Given the description of an element on the screen output the (x, y) to click on. 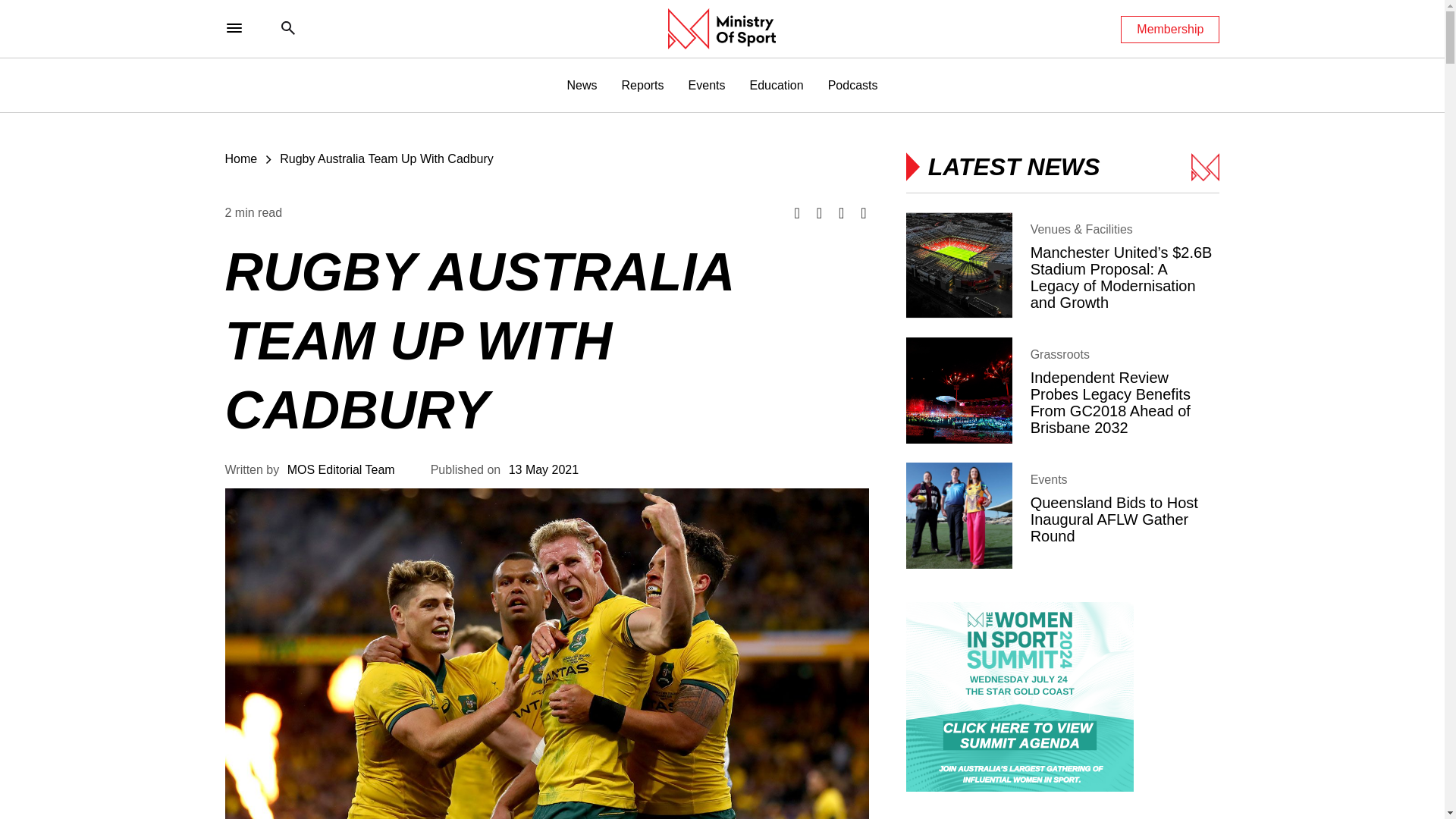
Podcasts (852, 85)
Ministry of Sport (722, 28)
Queensland Bids to Host Inaugural AFLW Gather Round (1062, 515)
Membership (1170, 29)
Home (240, 158)
Education (776, 85)
